Given the description of an element on the screen output the (x, y) to click on. 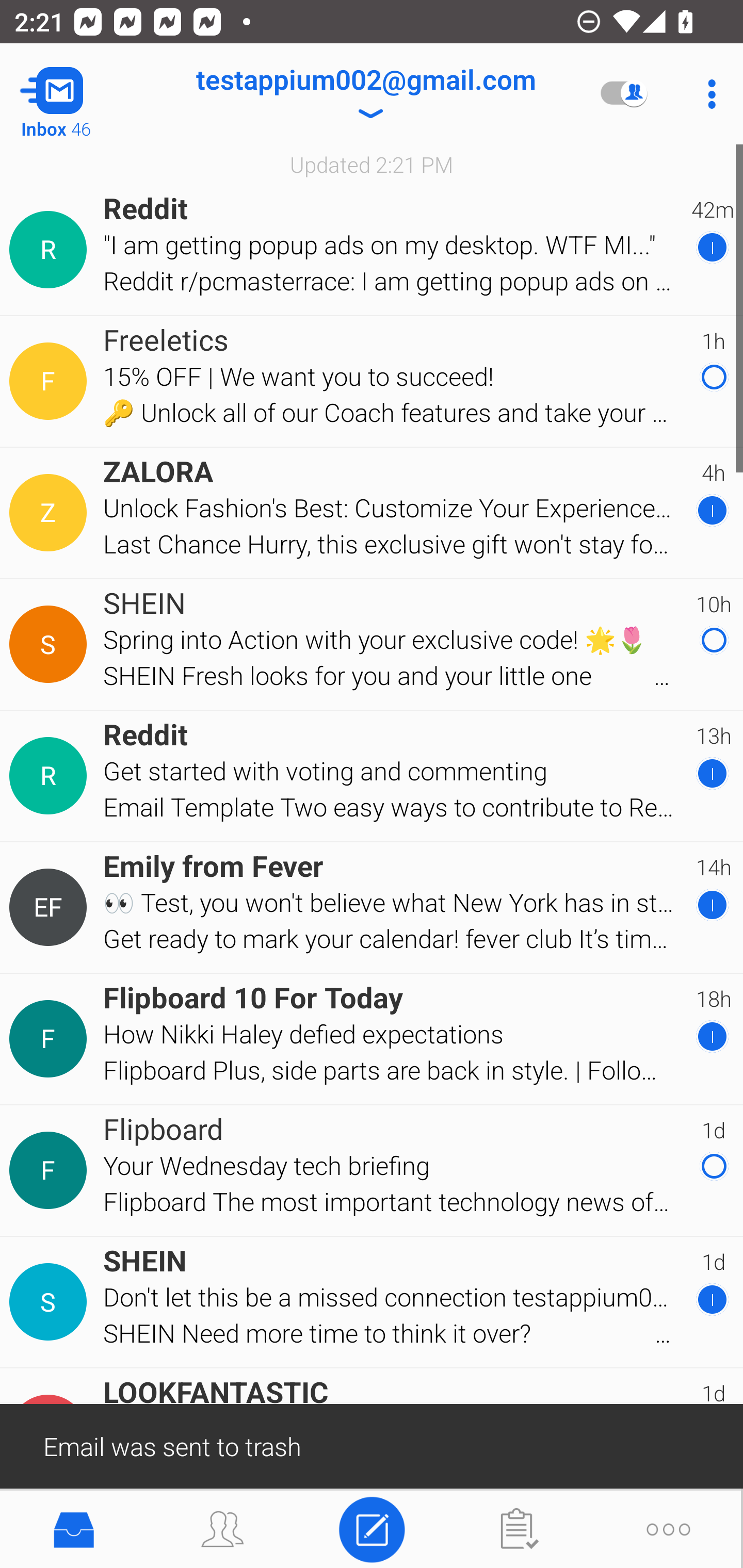
Navigate up (81, 93)
testappium002@gmail.com (365, 93)
More Options (706, 93)
Updated 2:21 PM (371, 164)
Contact Details (50, 250)
Contact Details (50, 381)
Contact Details (50, 513)
Contact Details (50, 644)
Contact Details (50, 776)
Contact Details (50, 907)
Contact Details (50, 1038)
Contact Details (50, 1170)
Contact Details (50, 1302)
Email was sent to trash (371, 1445)
Compose (371, 1528)
